Given the description of an element on the screen output the (x, y) to click on. 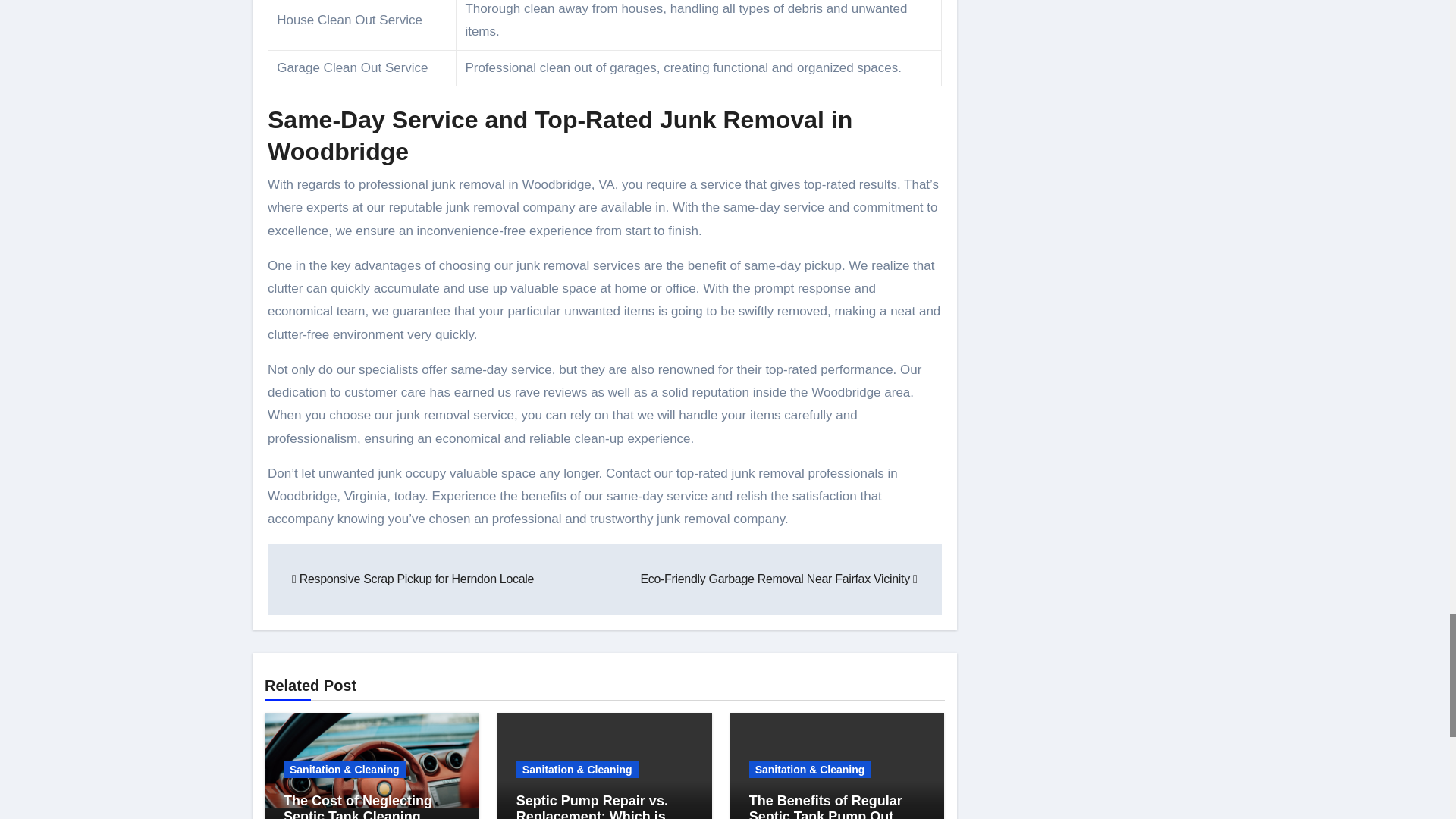
Septic Pump Repair vs. Replacement: Which is Best? (597, 806)
Eco-Friendly Garbage Removal Near Fairfax Vicinity (778, 578)
Permalink to: The Benefits of Regular Septic Tank Pump Out (825, 806)
The Benefits of Regular Septic Tank Pump Out (825, 806)
Responsive Scrap Pickup for Herndon Locale (413, 578)
The Cost of Neglecting Septic Tank Cleaning (357, 806)
Permalink to: The Cost of Neglecting Septic Tank Cleaning (357, 806)
